Given the description of an element on the screen output the (x, y) to click on. 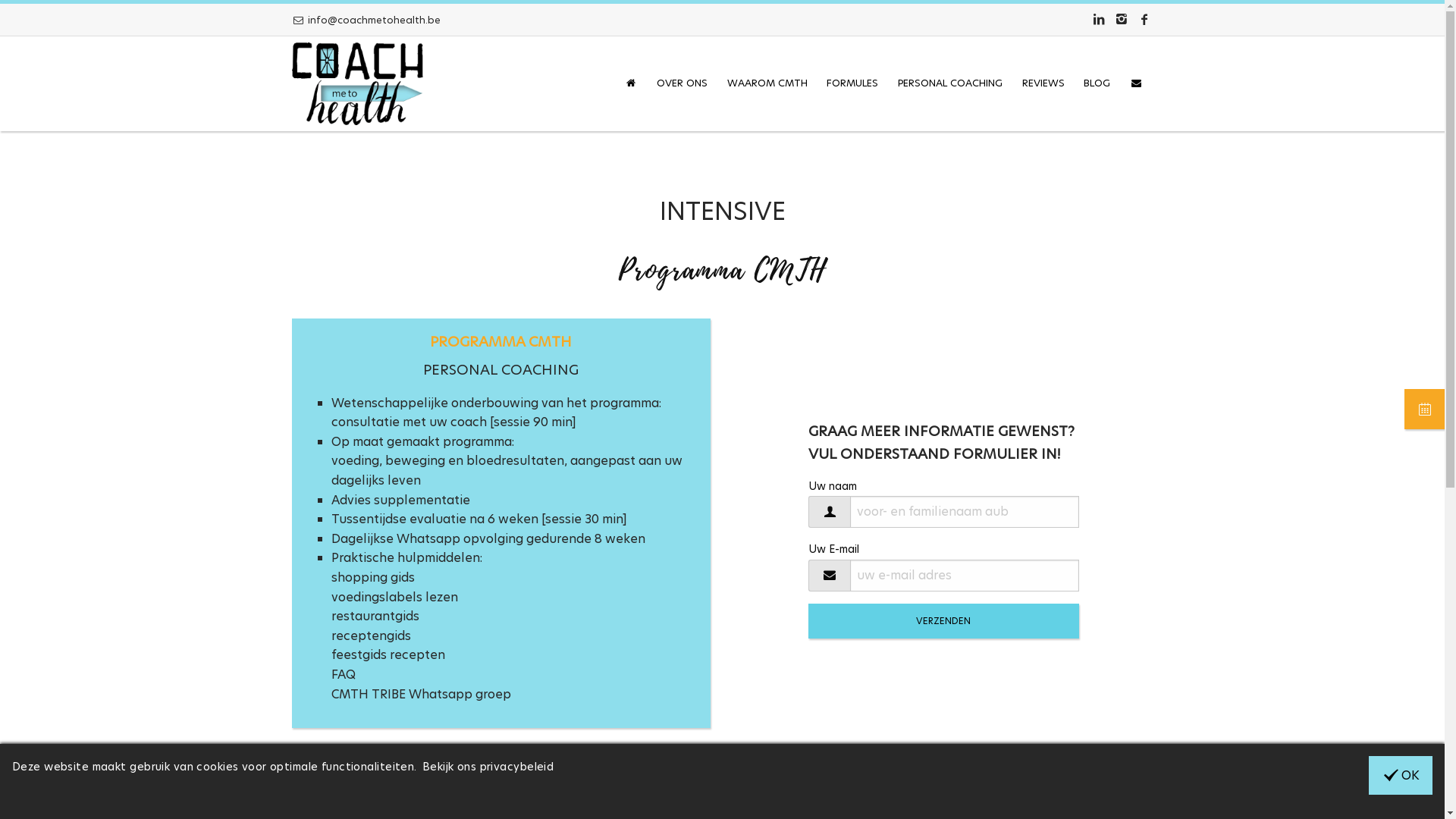
OVER ONS Element type: text (681, 83)
Welkom bij Coach Me To Health Element type: hover (630, 83)
verzenden Element type: text (943, 620)
Instagram Element type: hover (1121, 19)
REVIEWS Element type: text (1043, 83)
Homepage Coach Me To Health Element type: hover (356, 82)
PERSONAL COACHING Element type: text (950, 83)
info@coachmetohealth.be Element type: text (365, 19)
BLOG Element type: text (1096, 83)
FORMULES Element type: text (852, 83)
WAAROM CMTH Element type: text (767, 83)
Contacteer ons Element type: hover (1136, 83)
Zoom intake of een consultatie boeken bij Coach Me To Health Element type: hover (1424, 409)
Facebook Element type: hover (1143, 19)
 OK Element type: text (1400, 775)
Bekijk ons privacybeleid Element type: text (487, 766)
LinkedIn Element type: hover (1097, 19)
